Given the description of an element on the screen output the (x, y) to click on. 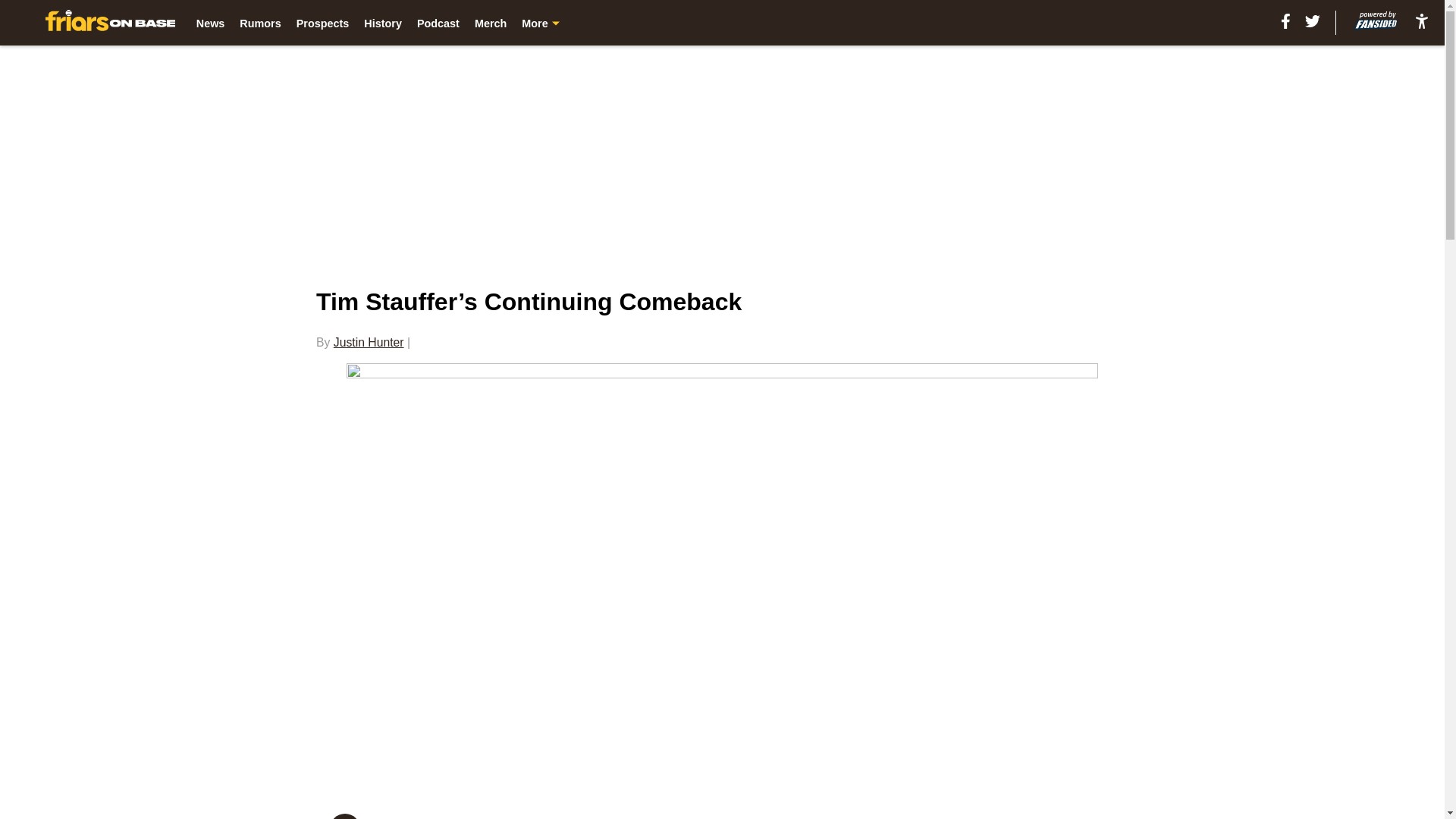
Rumors (260, 23)
News (210, 23)
Merch (490, 23)
Podcast (438, 23)
Prospects (323, 23)
History (382, 23)
Justin Hunter (368, 341)
